Given the description of an element on the screen output the (x, y) to click on. 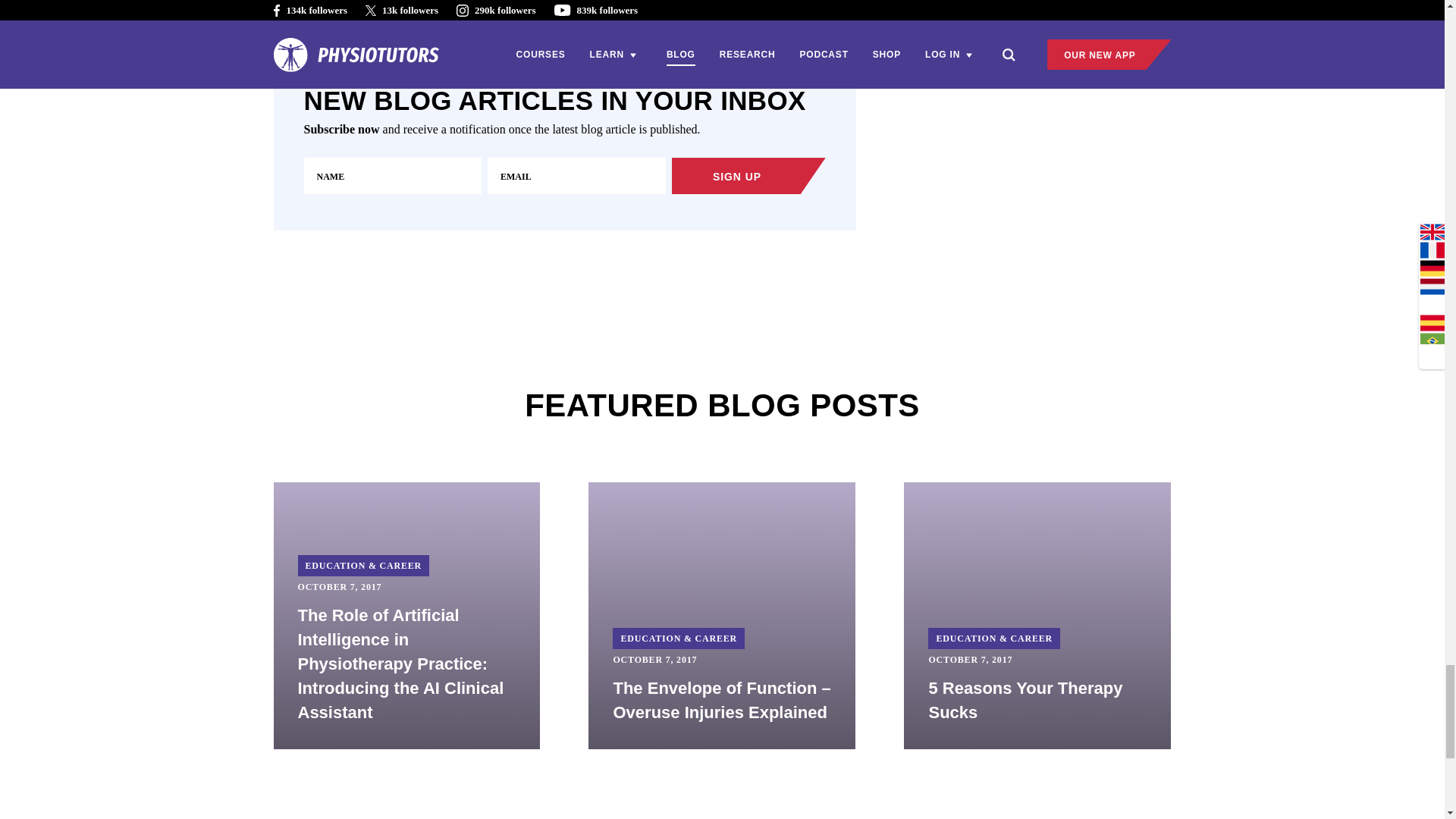
Sign Up (748, 176)
Sign Up (748, 176)
